Given the description of an element on the screen output the (x, y) to click on. 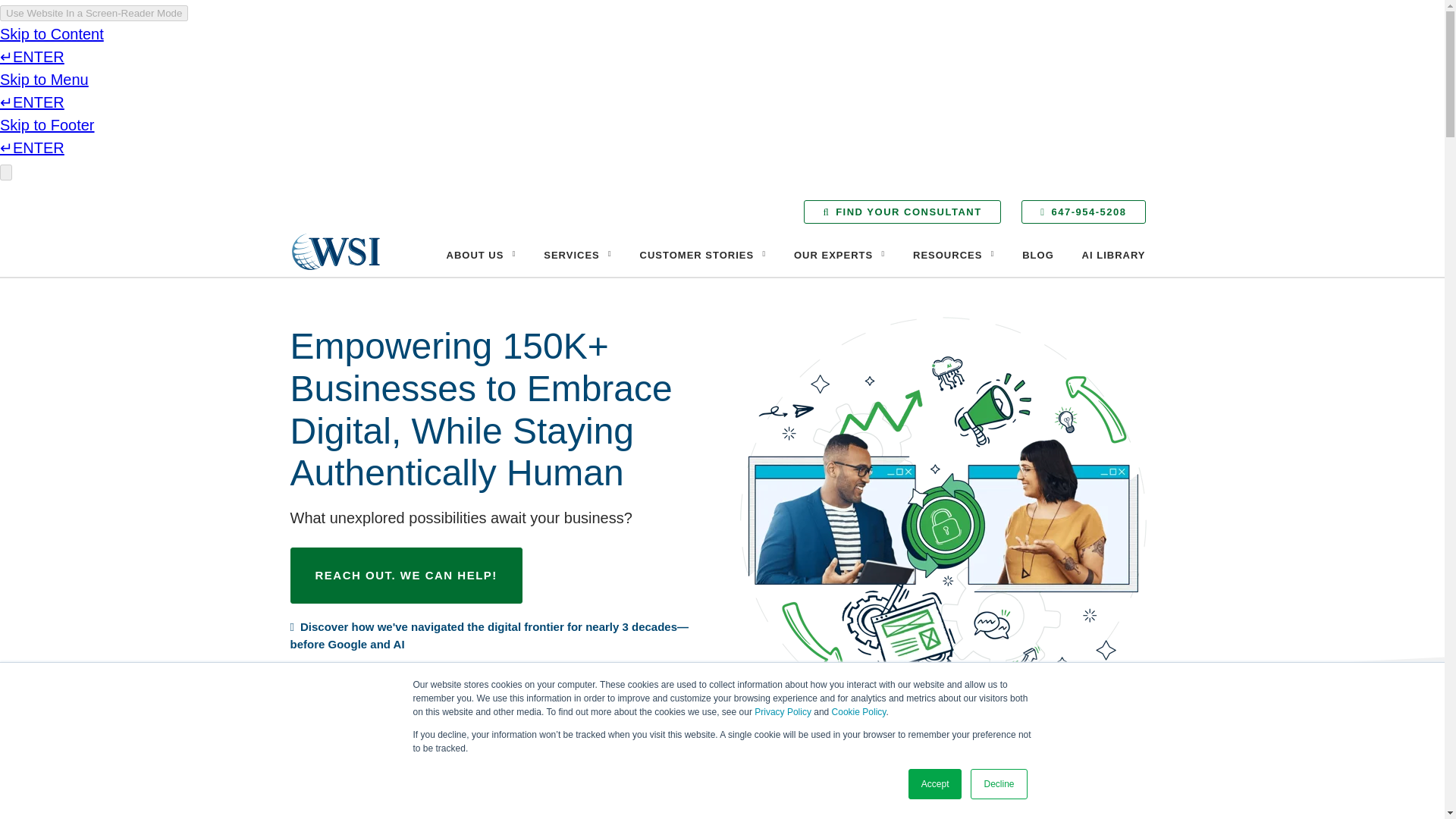
REACH OUT. WE CAN HELP! (405, 575)
BLOG (1037, 255)
647-954-5208 (1083, 211)
Privacy Policy (782, 711)
FIND YOUR CONSULTANT (901, 211)
Decline (998, 784)
AI LIBRARY (1113, 255)
REACH OUT. WE CAN HELP! (405, 575)
ABOUT US (480, 255)
Accept (935, 784)
WSI Logo (334, 251)
Cookie Policy (858, 711)
